Given the description of an element on the screen output the (x, y) to click on. 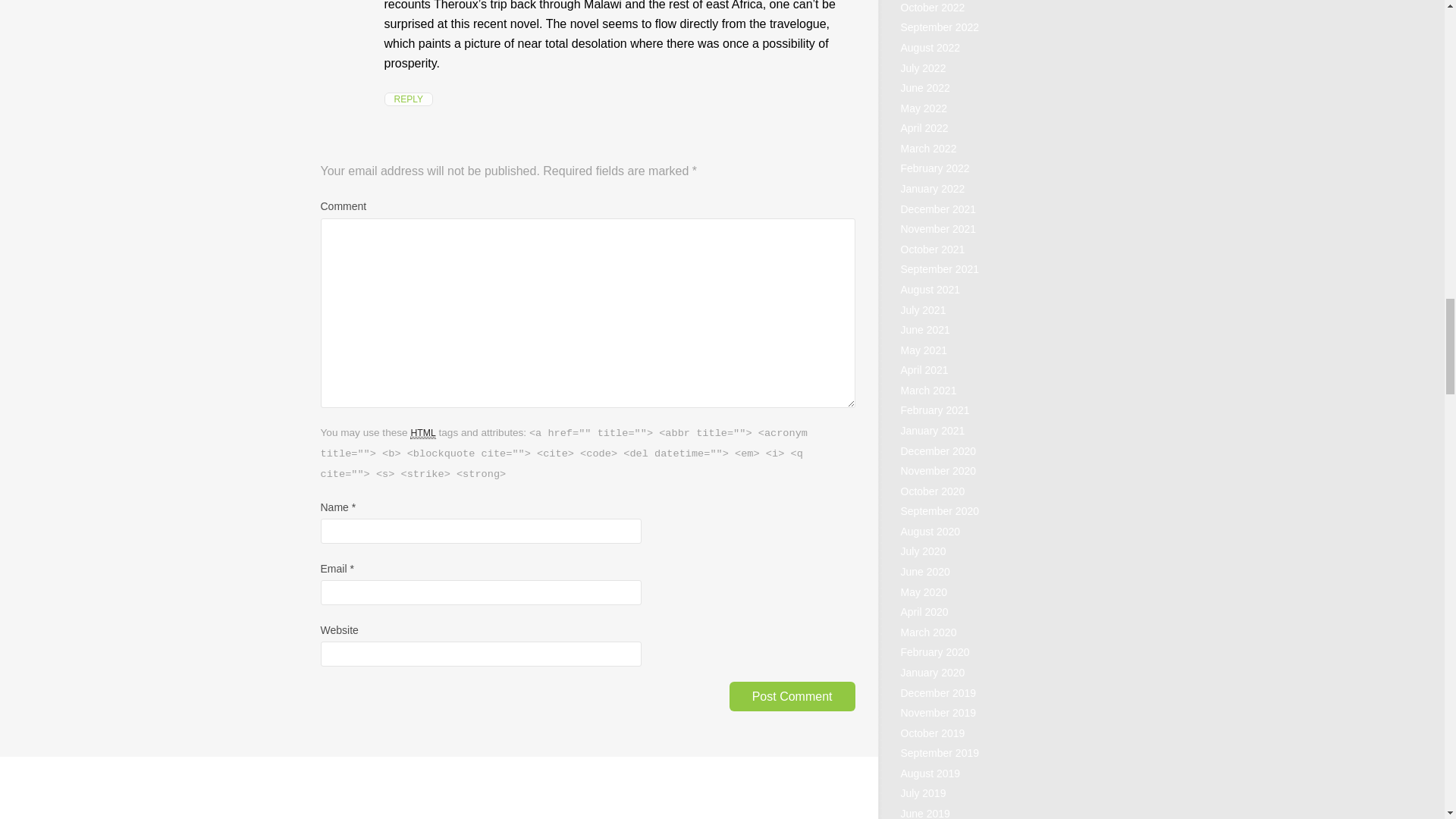
REPLY (408, 99)
Post Comment (792, 696)
Post Comment (792, 696)
HyperText Markup Language (422, 432)
